Given the description of an element on the screen output the (x, y) to click on. 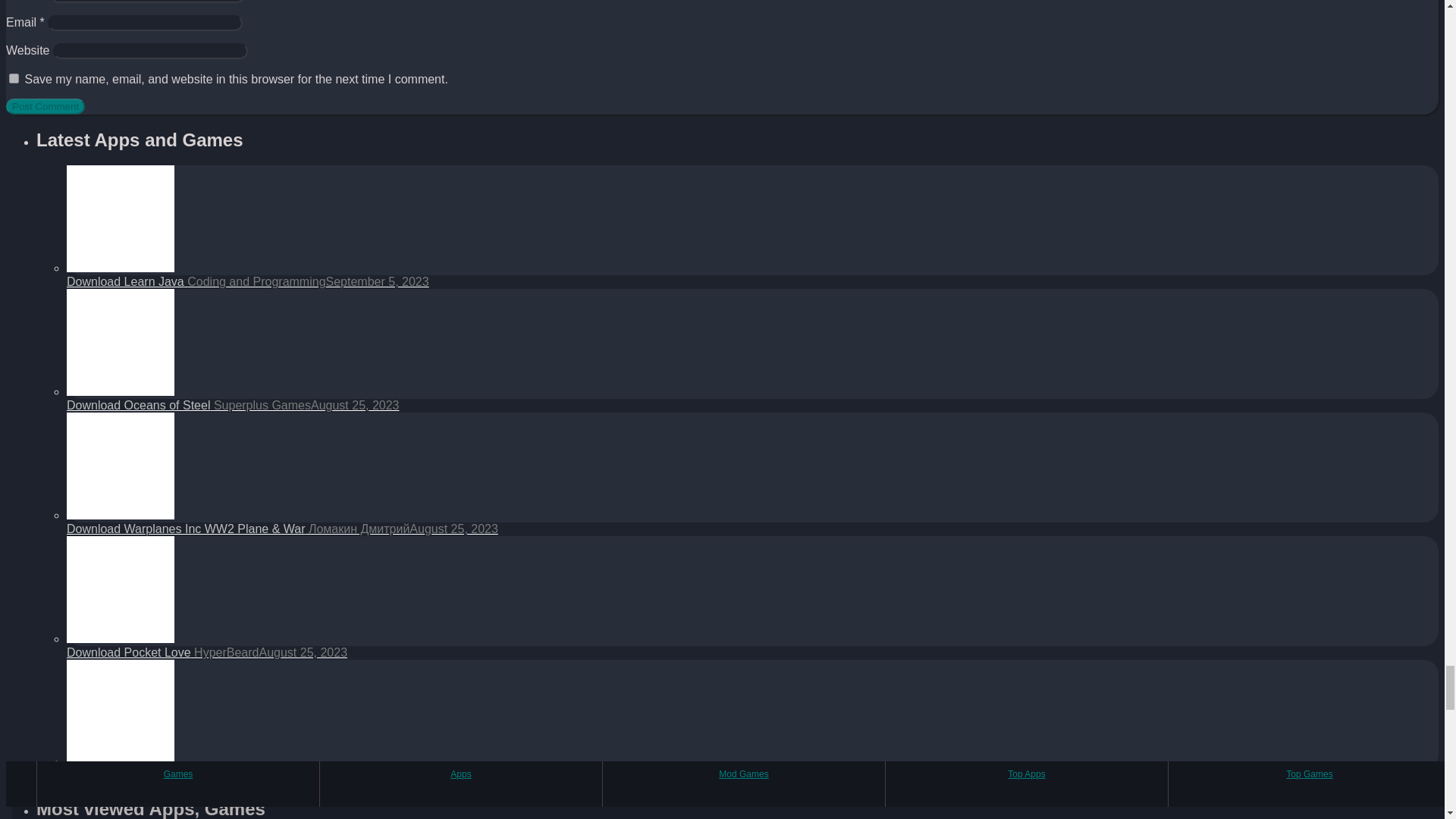
yes (13, 78)
Post Comment (44, 106)
